Given the description of an element on the screen output the (x, y) to click on. 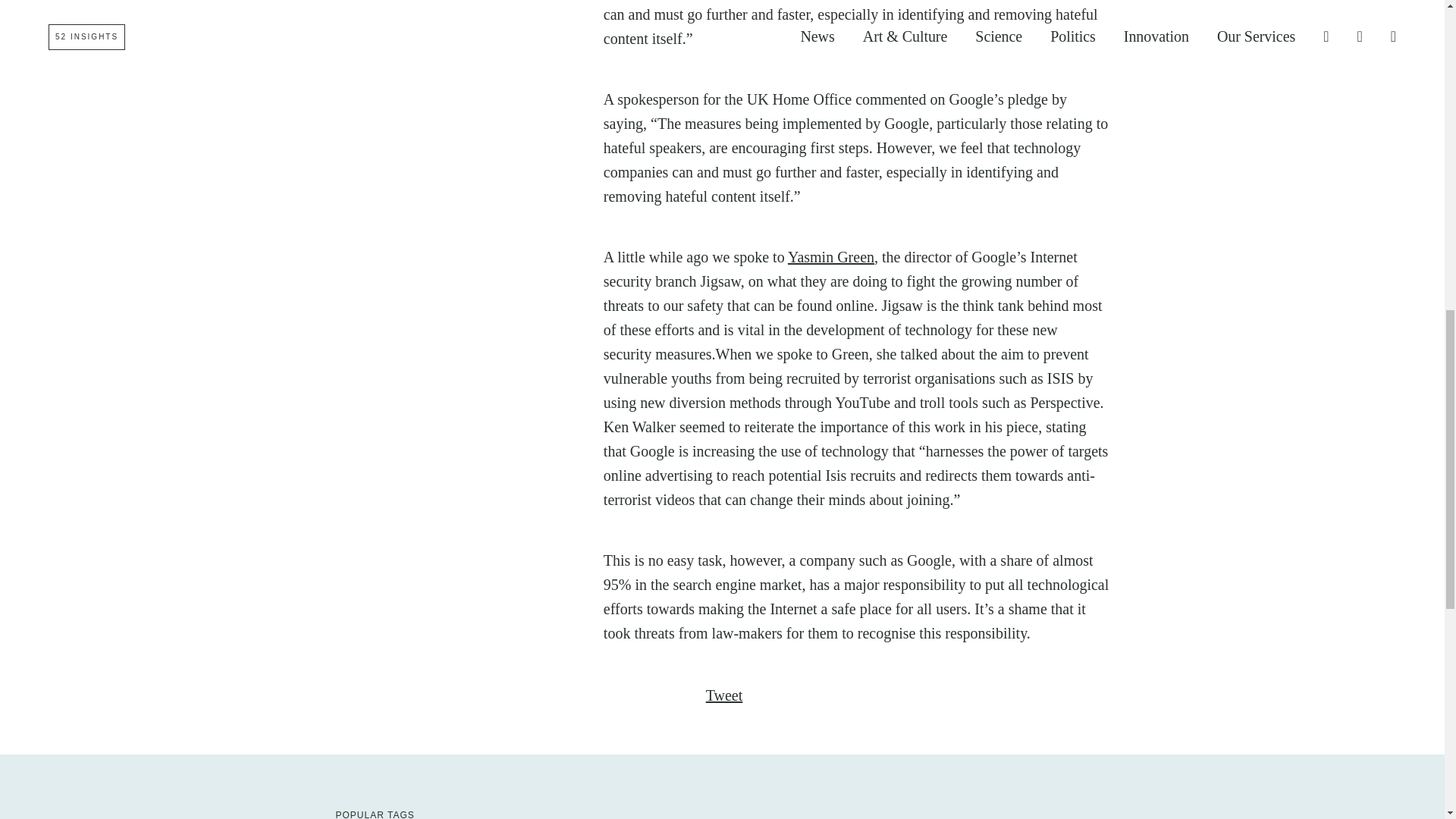
Yasmin Green (831, 256)
Tweet (724, 695)
